Given the description of an element on the screen output the (x, y) to click on. 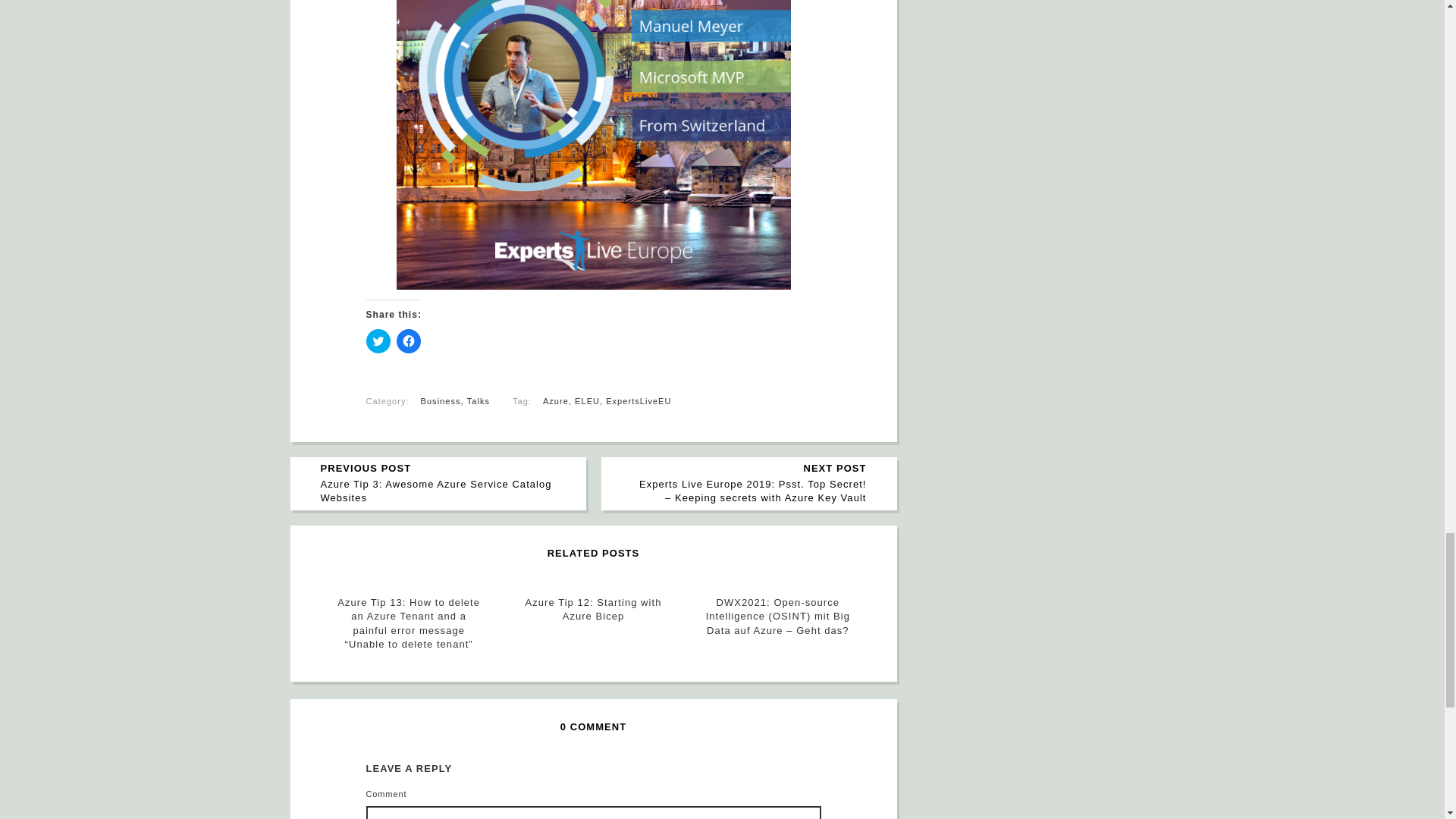
ELEU (587, 400)
Talks (478, 400)
Azure Tip 12: Starting with Azure Bicep (593, 609)
Click to share on Facebook (408, 340)
Click to share on Twitter (377, 340)
ExpertsLiveEU (638, 400)
Azure (556, 400)
Business (440, 400)
